Given the description of an element on the screen output the (x, y) to click on. 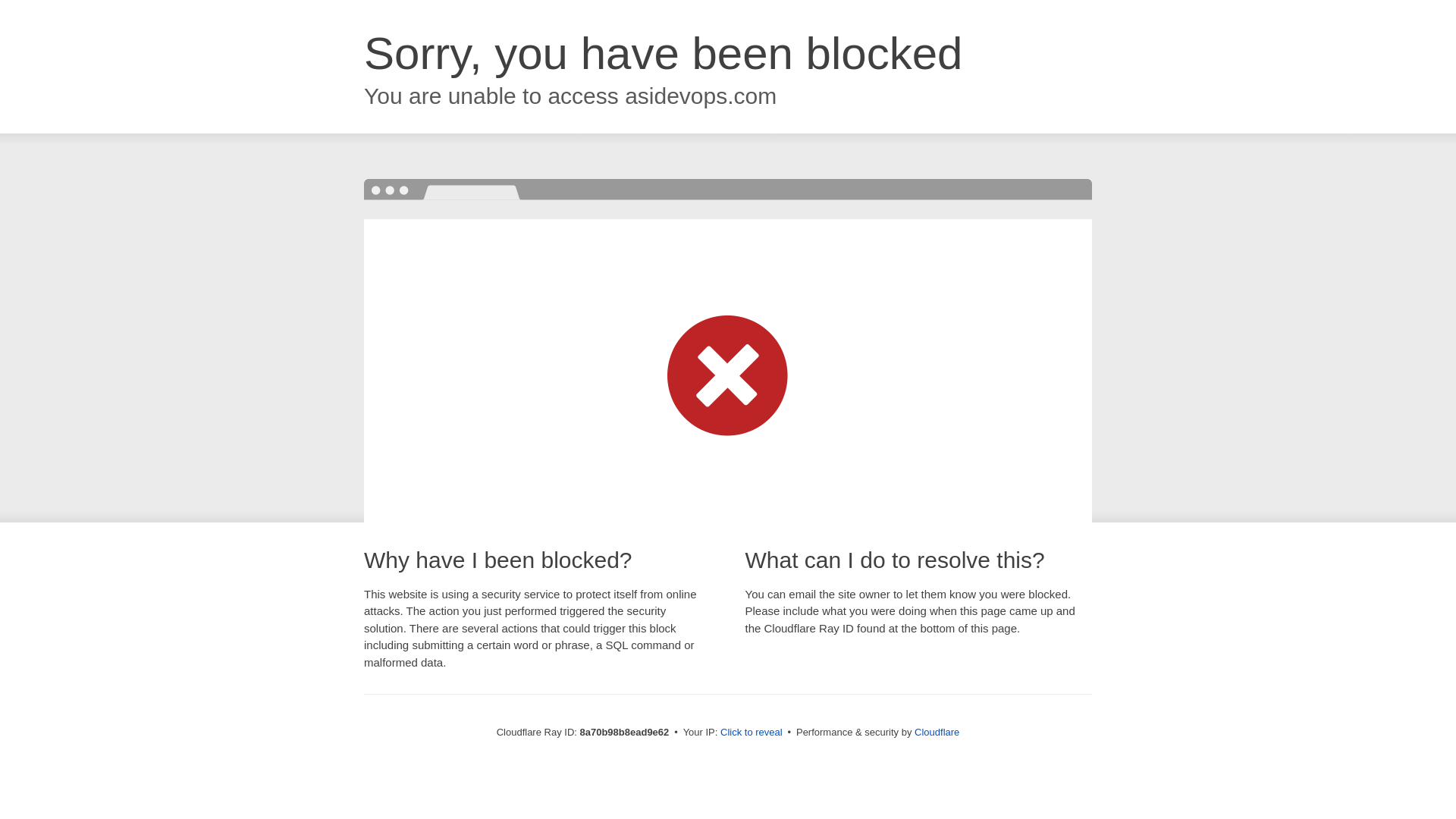
Click to reveal (751, 732)
Cloudflare (936, 731)
